Given the description of an element on the screen output the (x, y) to click on. 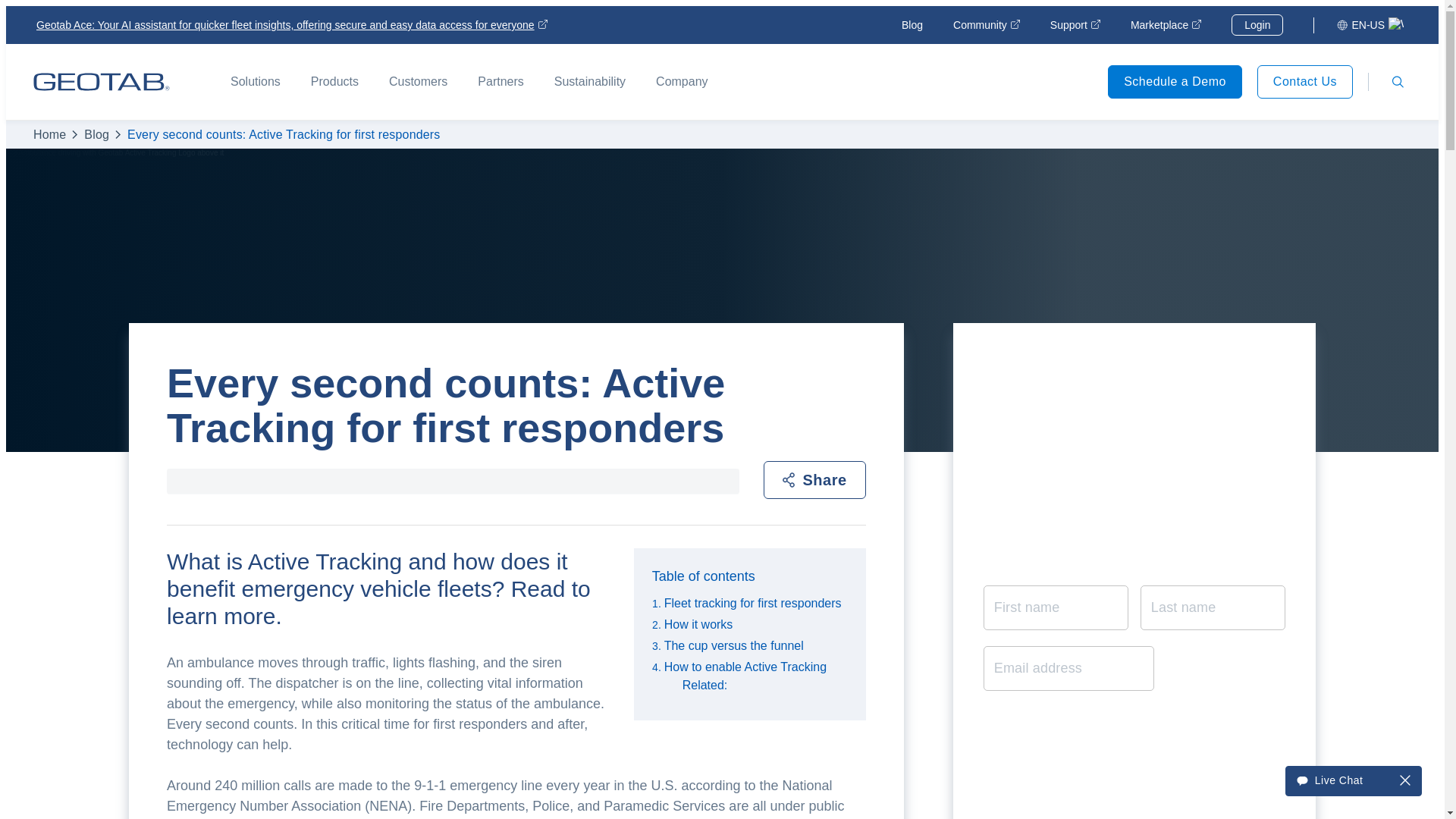
This link may open in a new tab (1074, 24)
Support (1074, 24)
EN-US (1369, 24)
Login (1256, 25)
Community (986, 24)
Search (1397, 81)
Blog (912, 24)
This link may open in a new tab (1166, 24)
Marketplace (1166, 24)
